Given the description of an element on the screen output the (x, y) to click on. 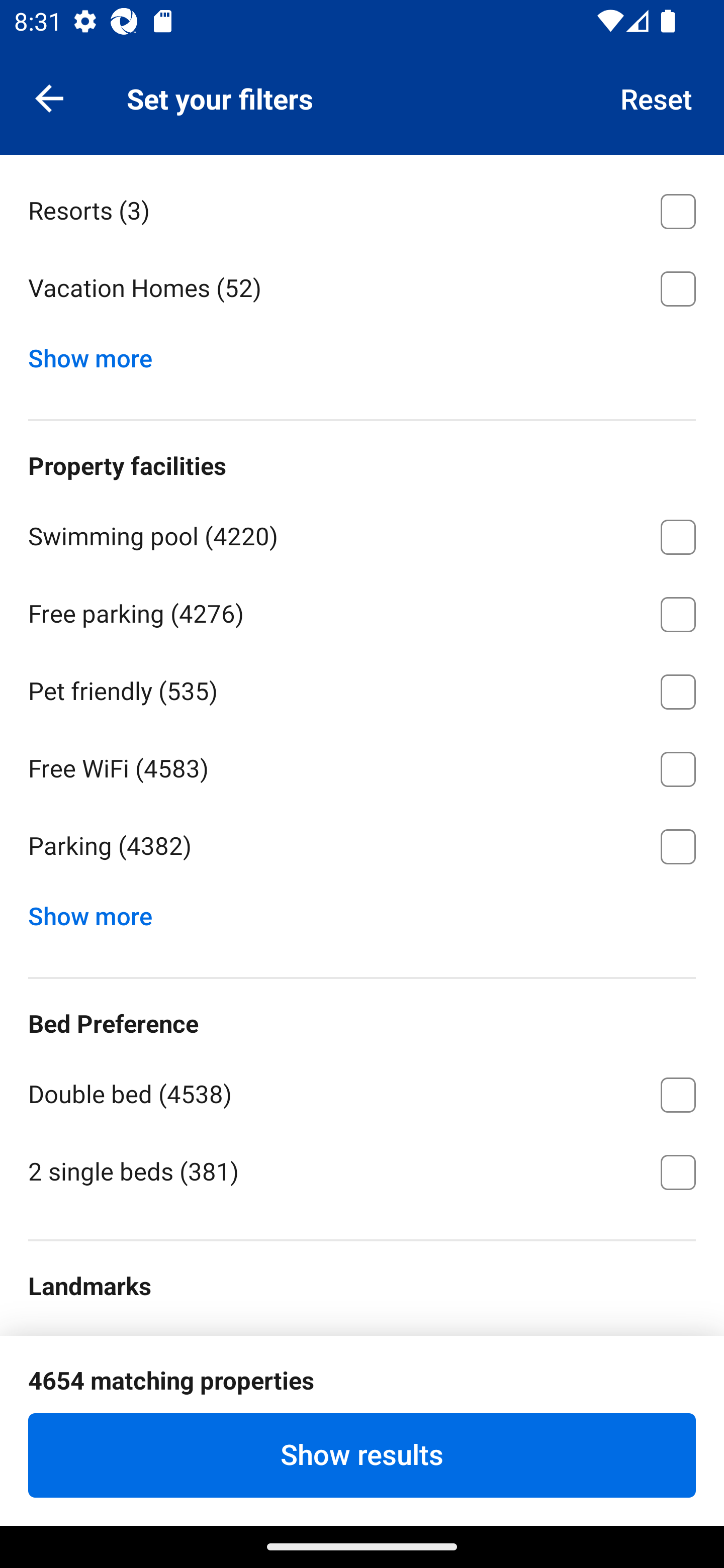
Navigate up (49, 97)
Reset (656, 97)
Resorts ⁦(3) (361, 207)
Vacation Homes ⁦(52) (361, 288)
Show more (97, 353)
Swimming pool ⁦(4220) (361, 533)
Free parking ⁦(4276) (361, 610)
Pet friendly ⁦(535) (361, 688)
Free WiFi ⁦(4583) (361, 765)
Parking ⁦(4382) (361, 846)
Show more (97, 911)
Double bed ⁦(4538) (361, 1091)
2 single beds ⁦(381) (361, 1170)
Show results (361, 1454)
